Given the description of an element on the screen output the (x, y) to click on. 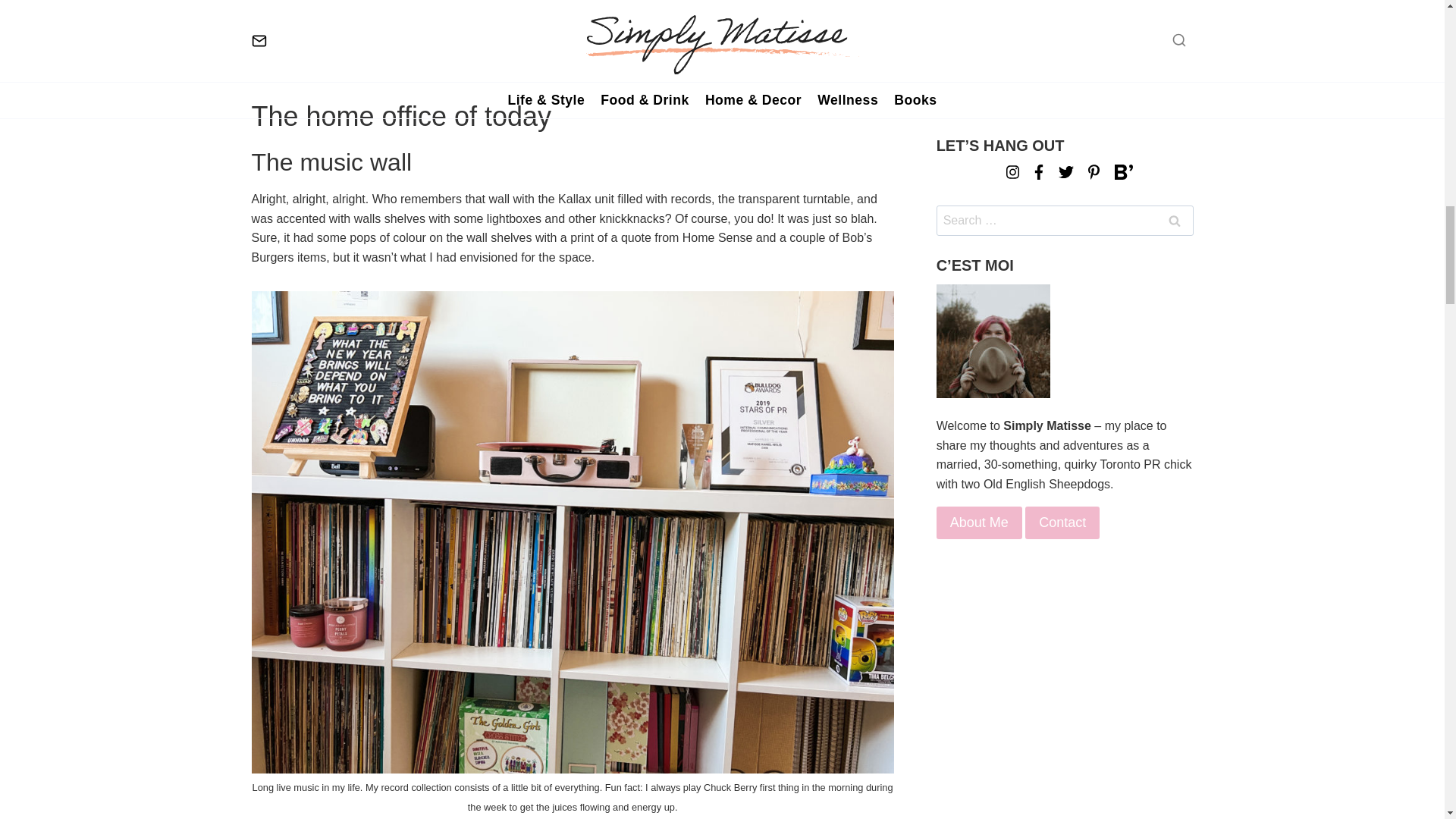
Lagkapten Tabletop (327, 9)
